Given the description of an element on the screen output the (x, y) to click on. 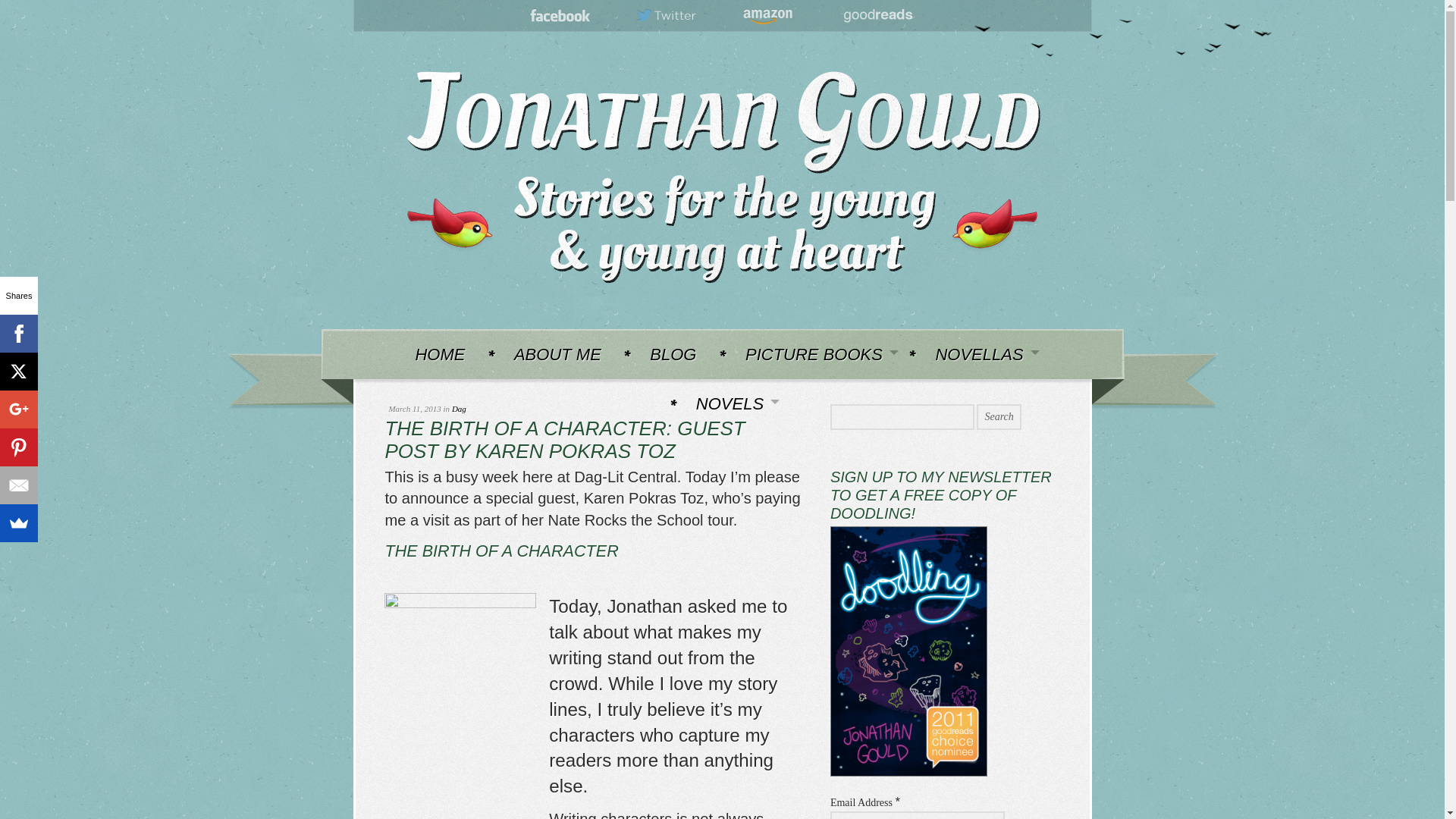
Pinterest (18, 447)
NOVELS (731, 403)
THE BIRTH OF A CHARACTER: GUEST POST BY KAREN POKRAS TOZ (564, 439)
SumoMe (18, 523)
twitter (666, 16)
PICTURE BOOKS (815, 354)
Search (998, 416)
Email (18, 485)
HOME (439, 354)
NOVELLAS (980, 354)
amazon (767, 16)
Dag (458, 408)
X (18, 371)
mixcloud (877, 16)
facebook (560, 16)
